Given the description of an element on the screen output the (x, y) to click on. 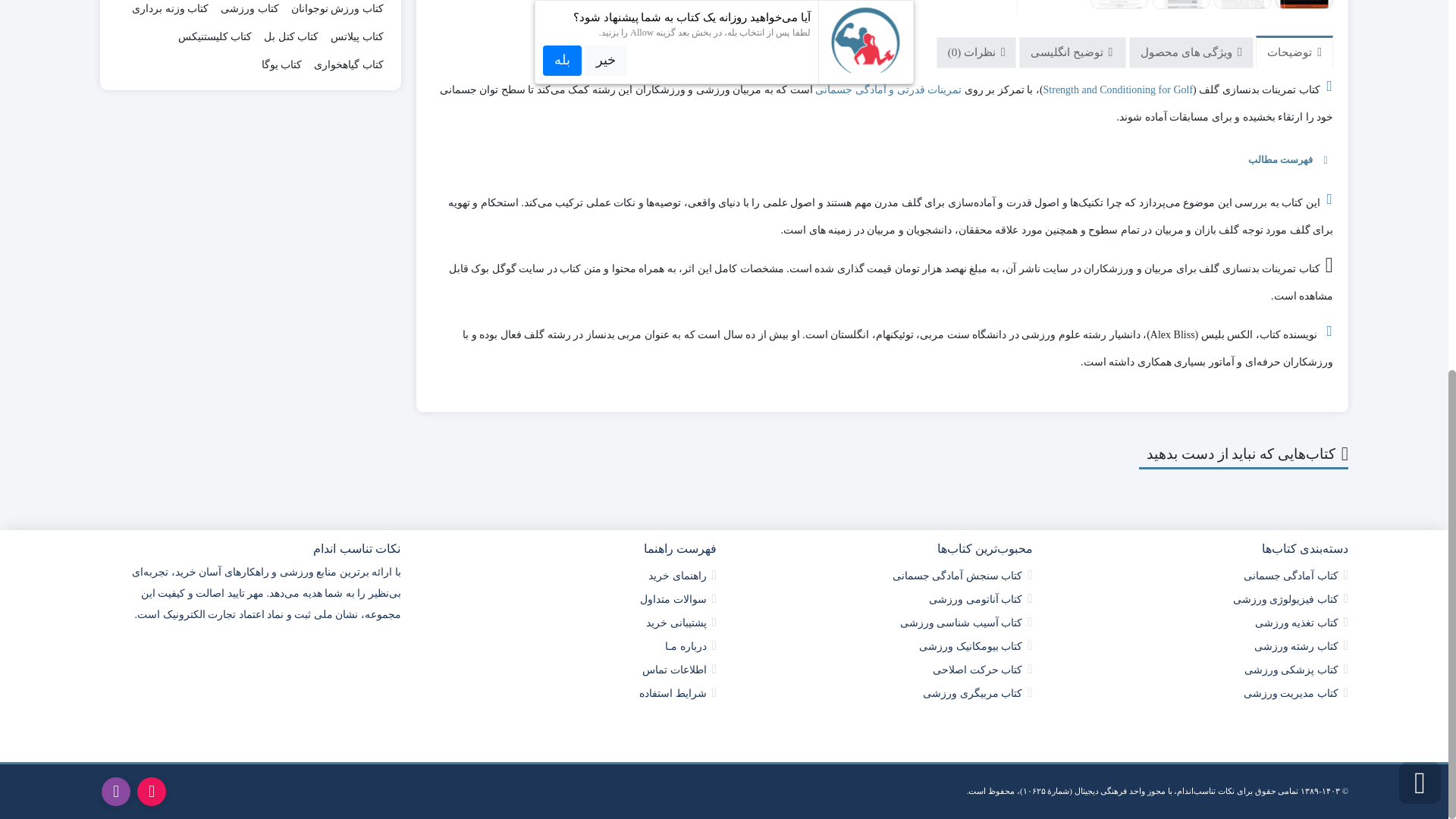
Strength and Conditioning for Golf (1118, 89)
